Given the description of an element on the screen output the (x, y) to click on. 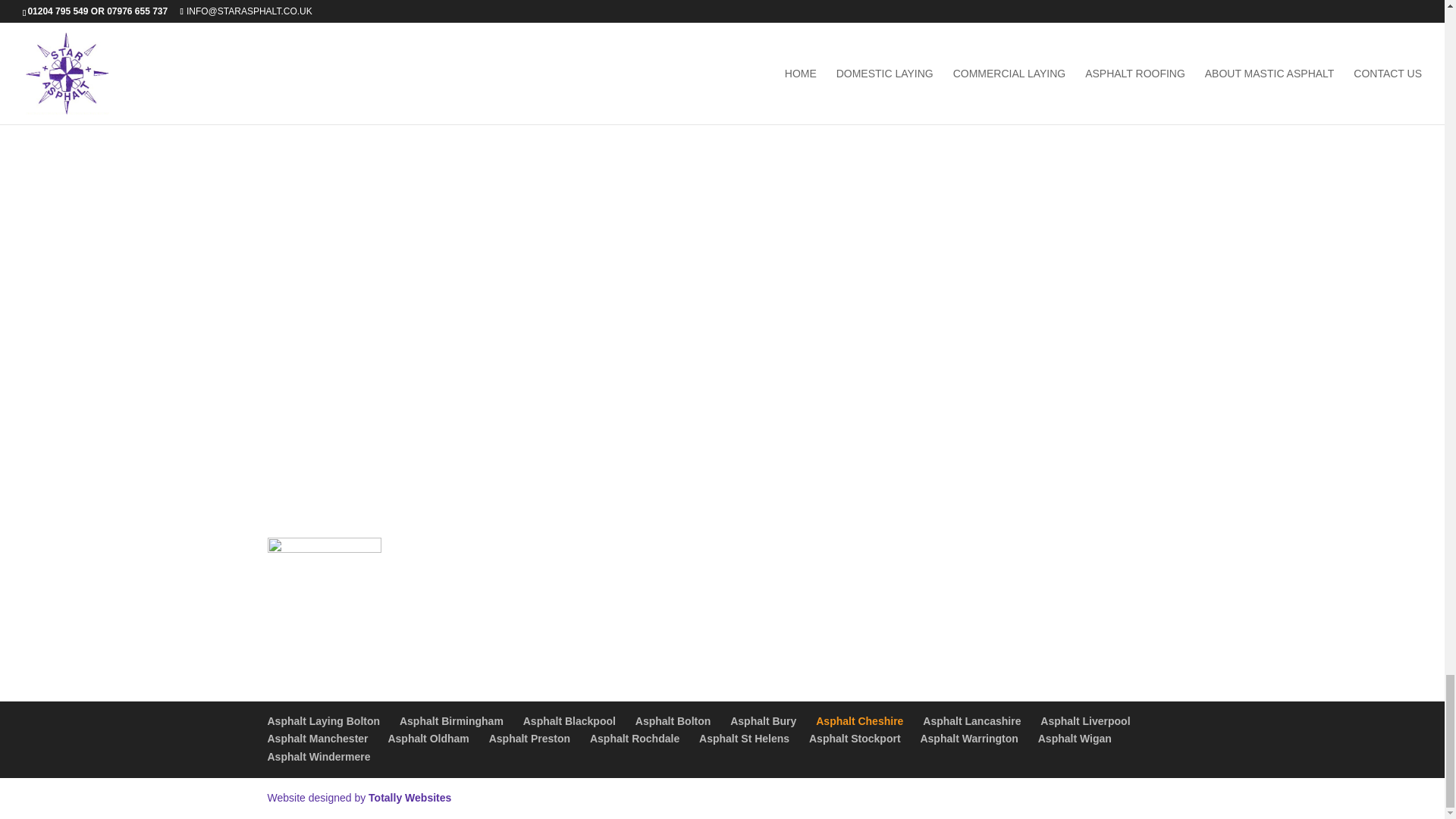
Asphalt Bolton (672, 720)
Asphalt Liverpool (1085, 720)
Asphalt Manchester (317, 738)
Asphalt Lancashire (971, 720)
Asphalt Preston (529, 738)
Asphalt Laying Bolton (323, 720)
Asphalt Wigan (1075, 738)
Asphalt Windermere (317, 756)
Asphalt Cheshire (858, 720)
Asphalt Birmingham (450, 720)
Asphalt Blackpool (568, 720)
Asphalt Oldham (427, 738)
Asphalt Warrington (968, 738)
Totally Websites (409, 797)
Asphalt Rochdale (634, 738)
